Given the description of an element on the screen output the (x, y) to click on. 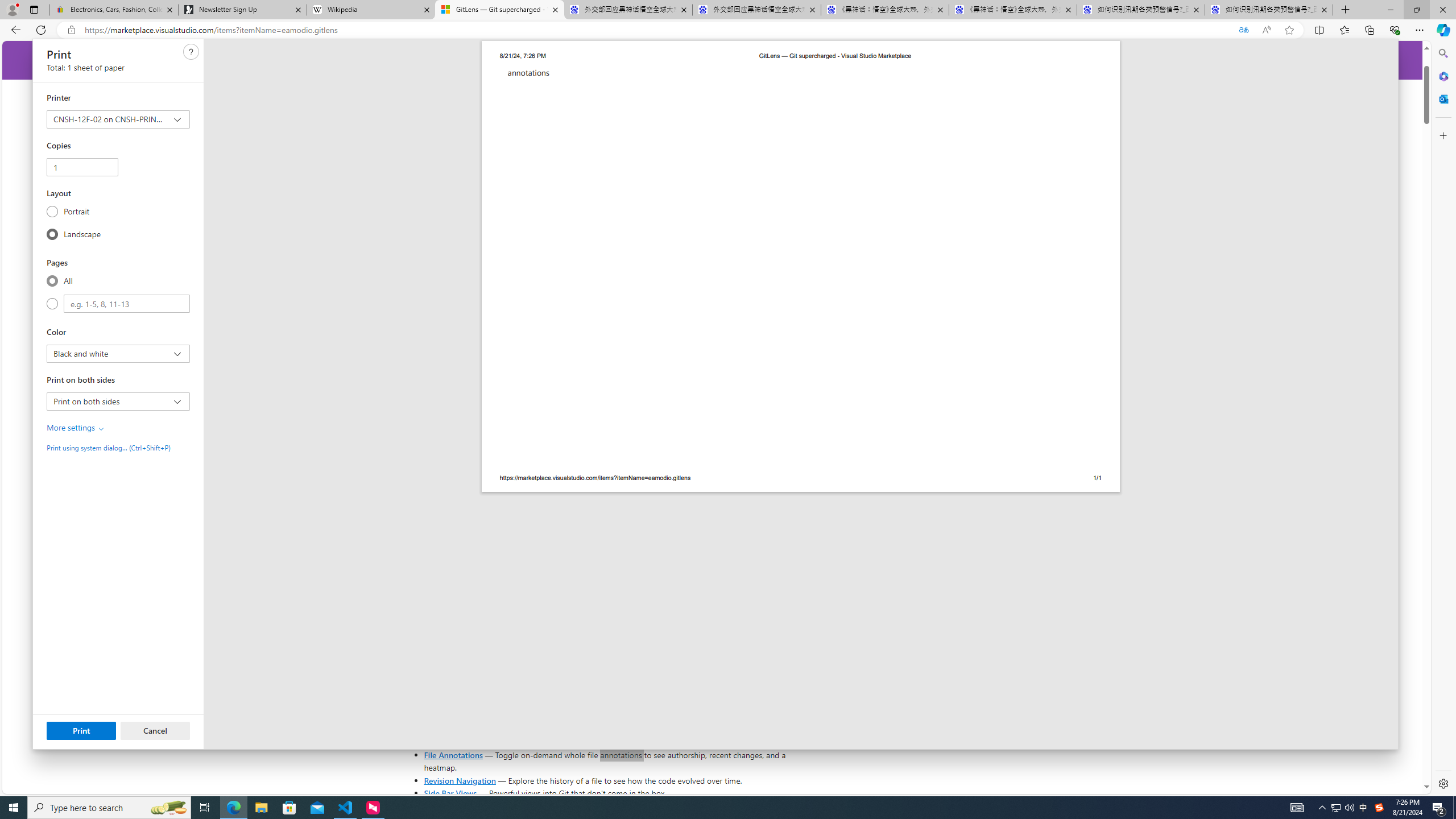
Print on both sides Print on both sides (117, 401)
Class: c0183 (101, 428)
